Given the description of an element on the screen output the (x, y) to click on. 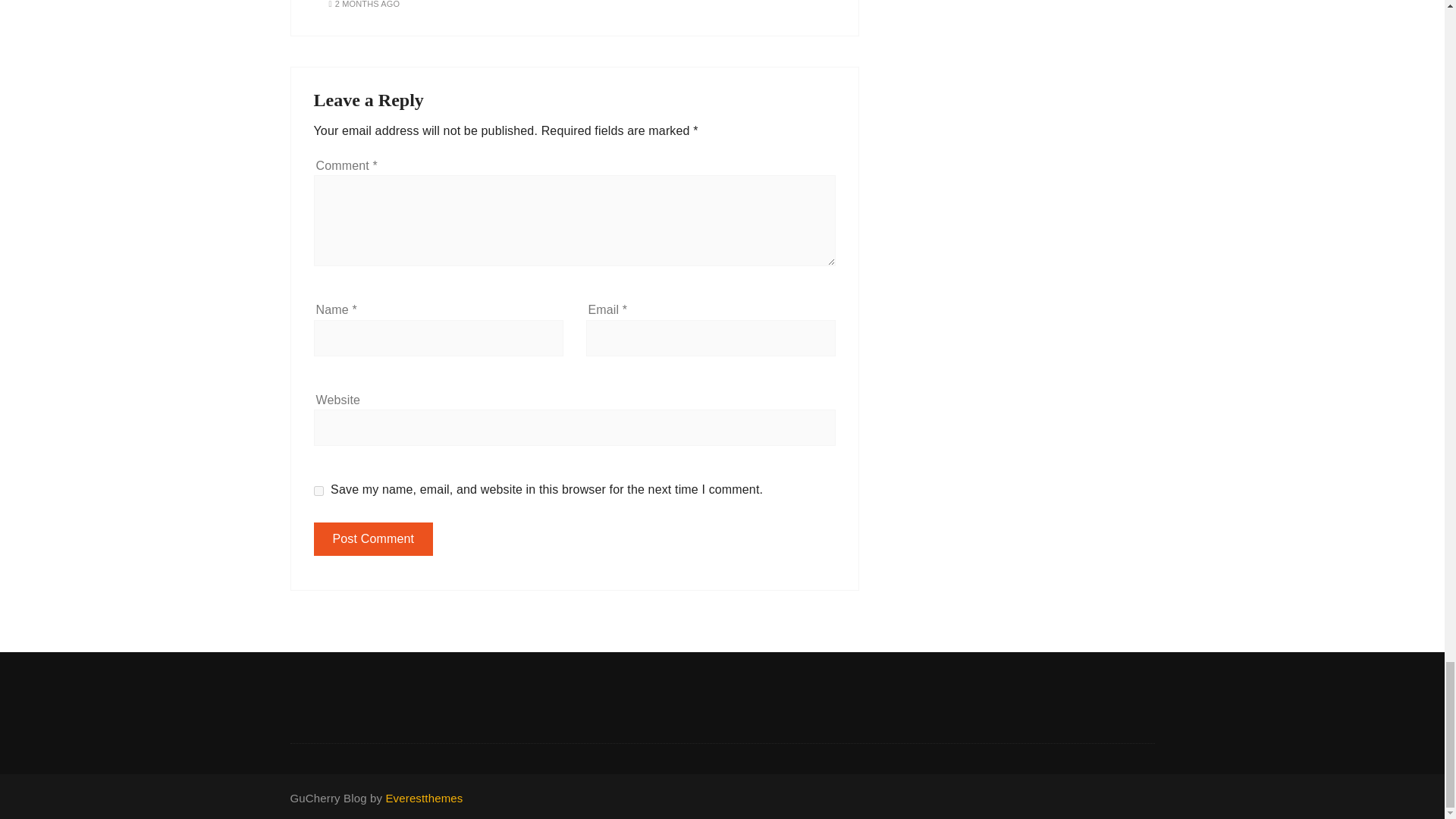
Everestthemes (424, 797)
Post Comment (373, 539)
yes (318, 491)
Post Comment (373, 539)
